Given the description of an element on the screen output the (x, y) to click on. 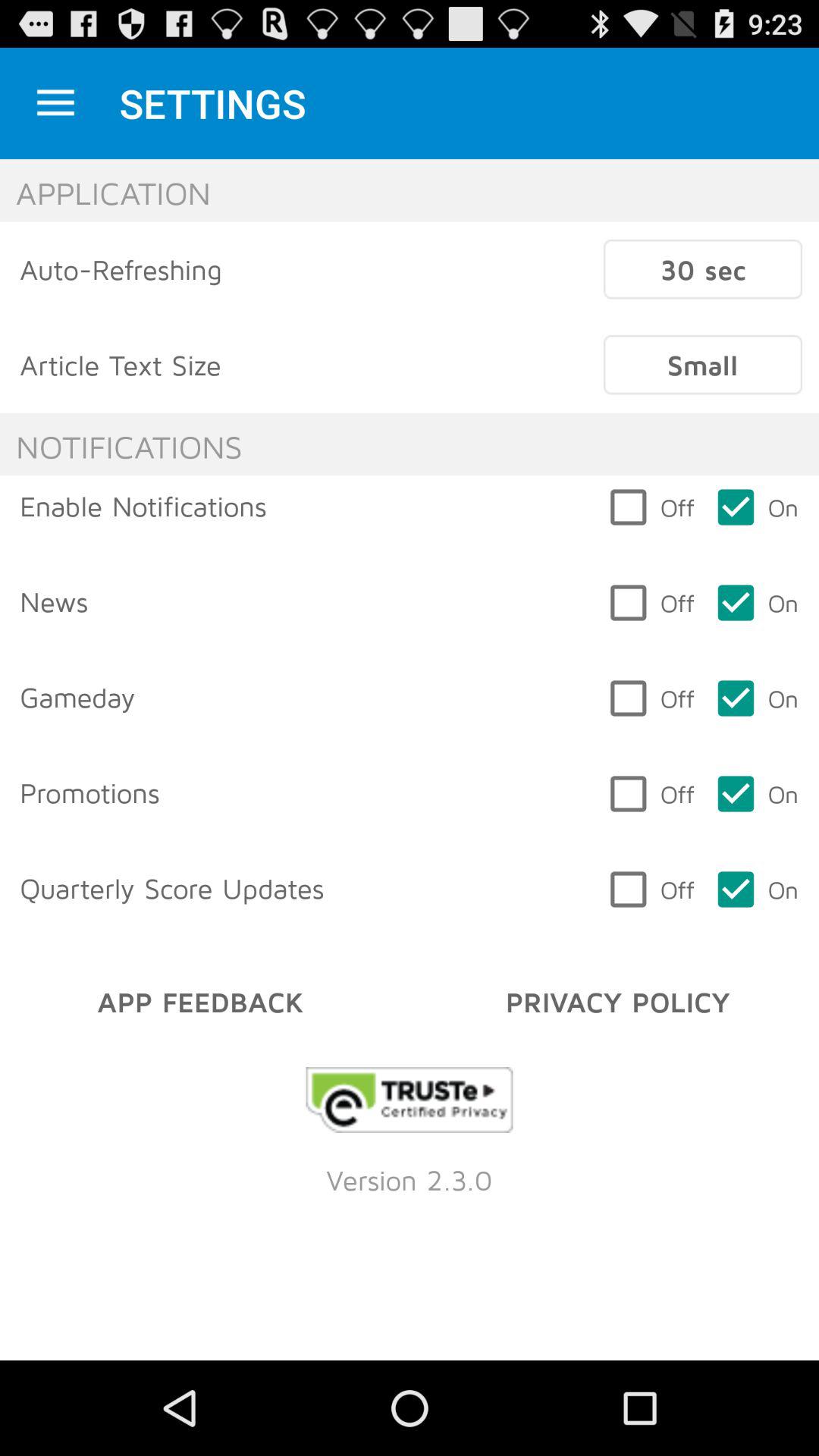
launch the item below app feedback (409, 1099)
